Given the description of an element on the screen output the (x, y) to click on. 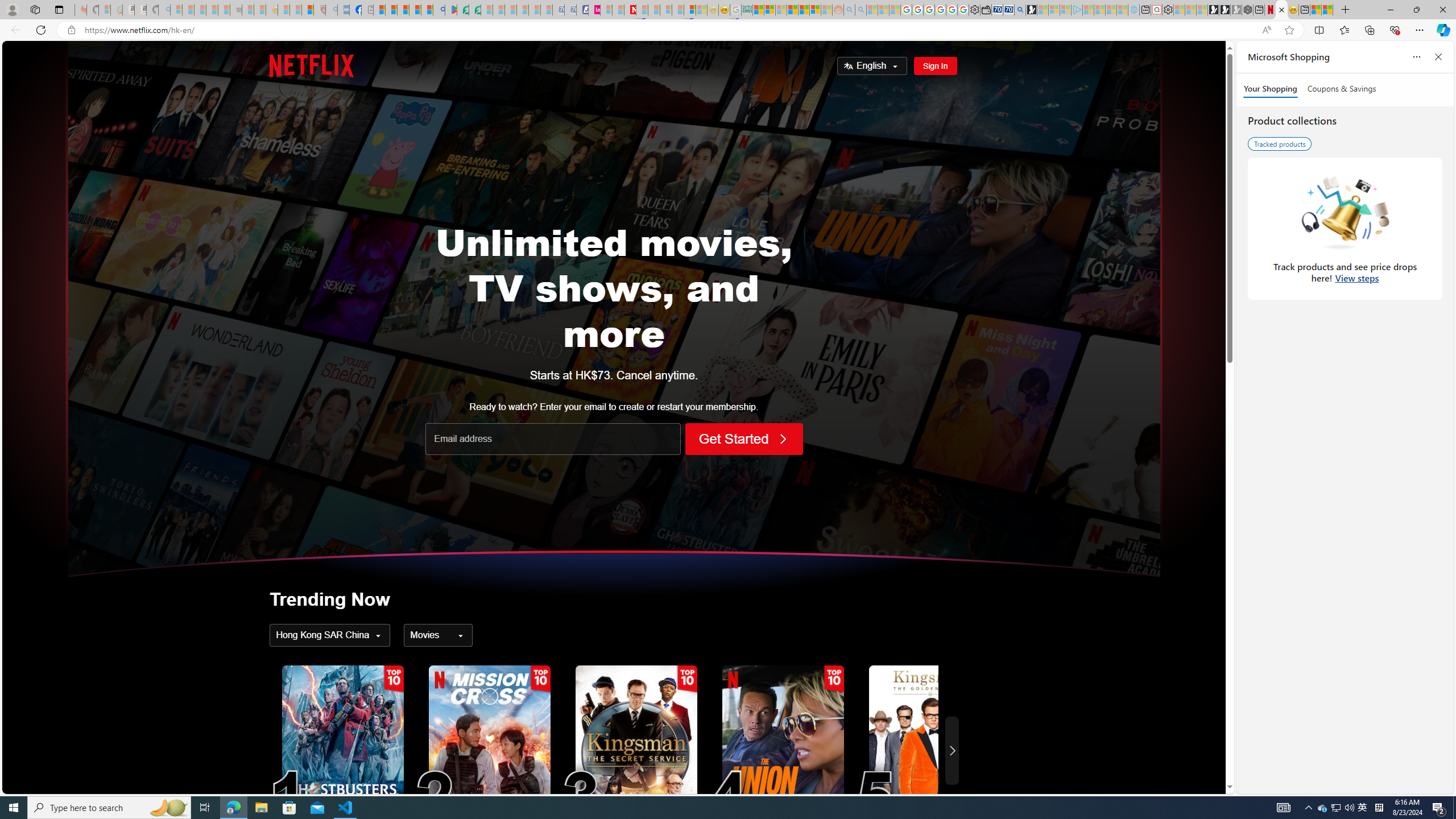
Wildlife - MSN (1315, 9)
Select Language (872, 65)
Wallet (985, 9)
Bing Real Estate - Home sales and rental listings (1019, 9)
